Given the description of an element on the screen output the (x, y) to click on. 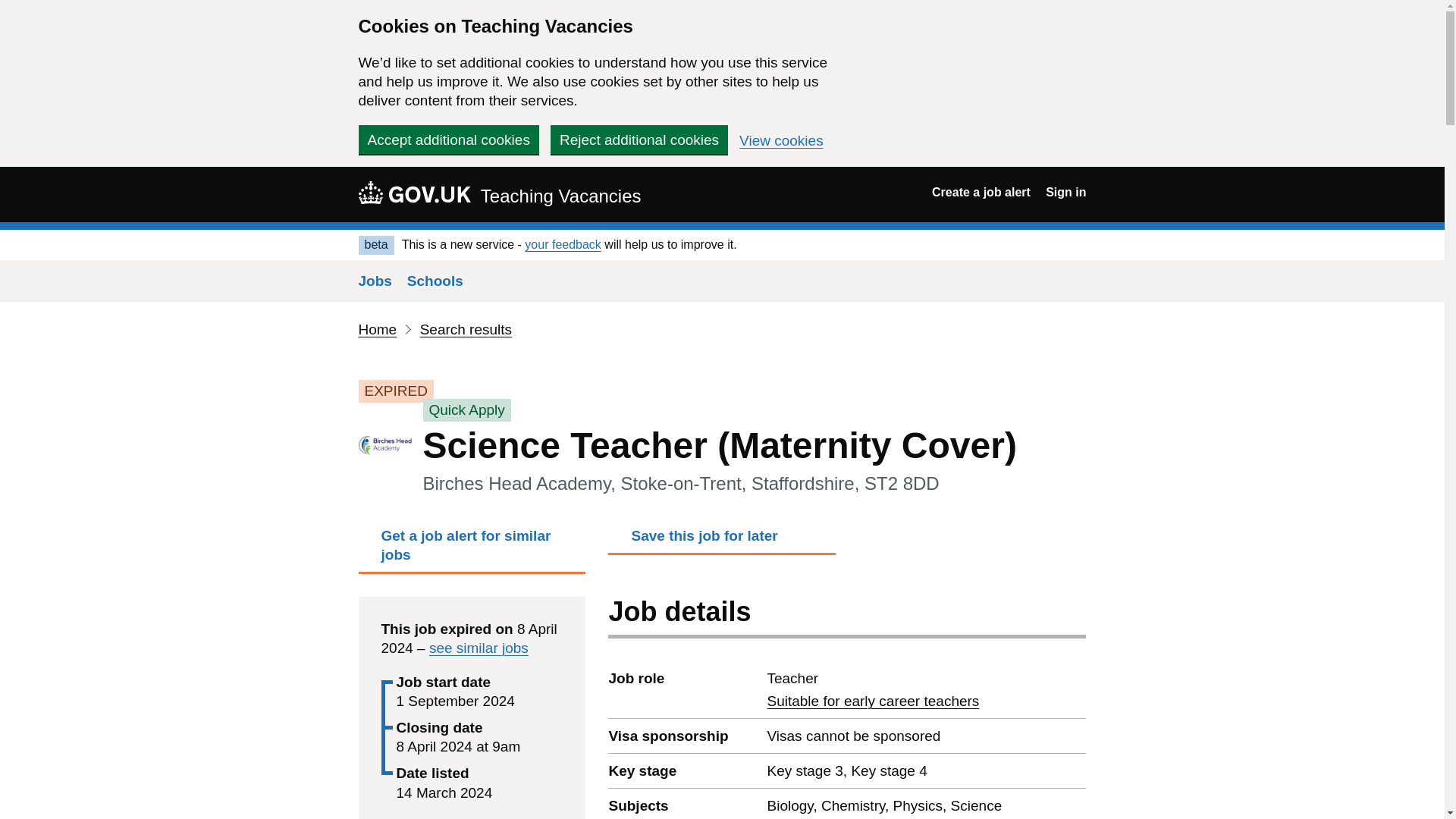
Schools (435, 281)
Get a job alert for similar jobs (471, 549)
GOV.UK Teaching Vacancies (499, 194)
see similar jobs (478, 647)
View cookies (781, 140)
Accept additional cookies (448, 139)
Search results (466, 329)
Save this job for later (721, 540)
Create a job alert (980, 192)
Sign in (1065, 192)
